Given the description of an element on the screen output the (x, y) to click on. 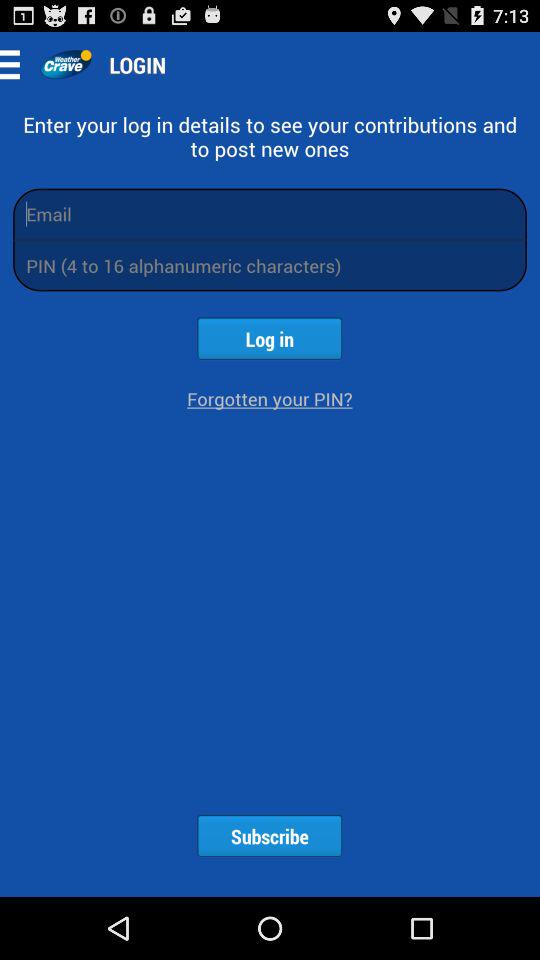
press the item below log in app (269, 398)
